Given the description of an element on the screen output the (x, y) to click on. 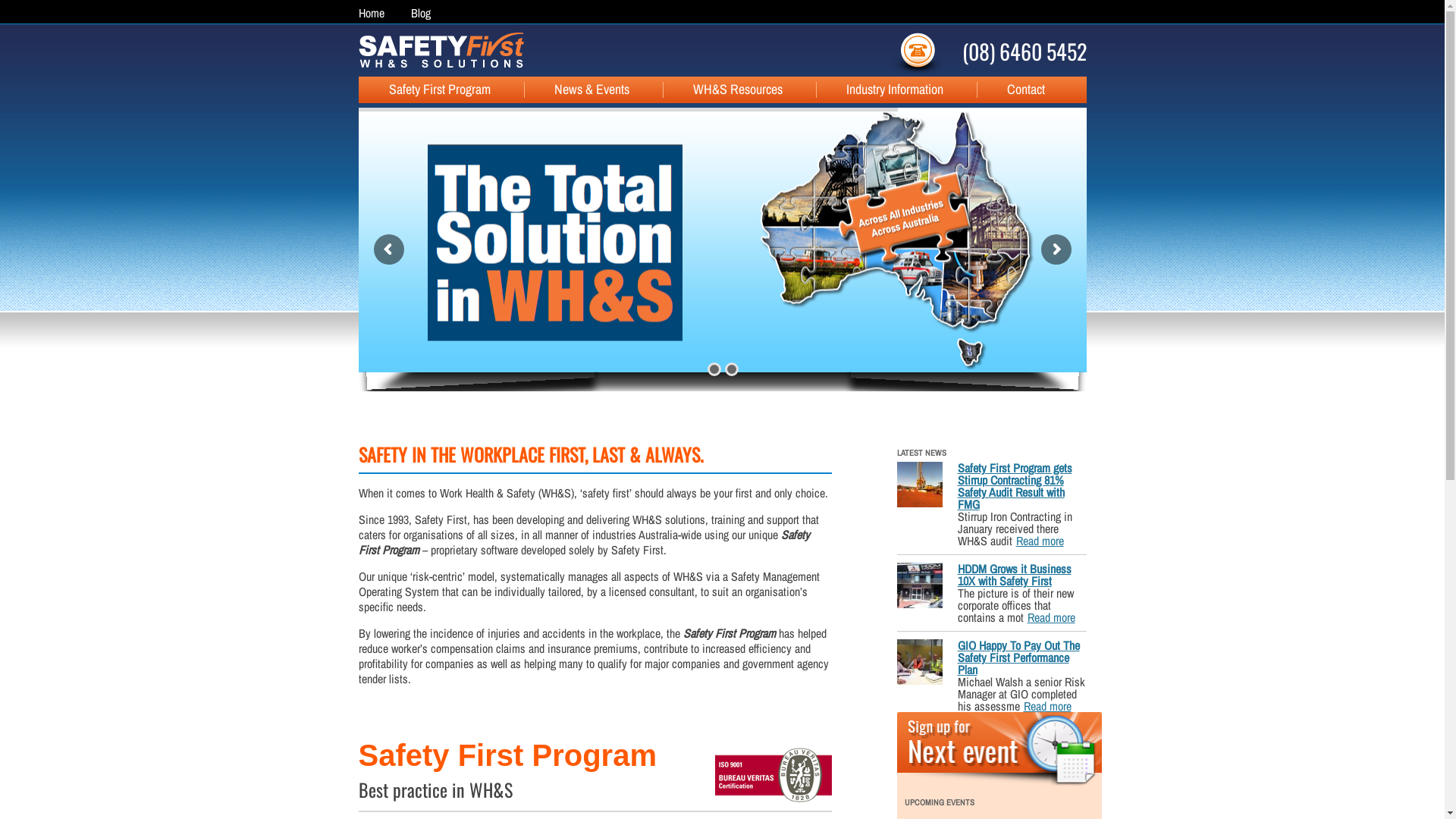
Safety First Program Element type: text (423, 89)
Blog Element type: text (420, 12)
HDDM Grows it Business 10X with Safety First Element type: hover (918, 585)
Skip to content Element type: text (755, 82)
GIO Happy To Pay Out The Safety First Performance Plan Element type: text (1018, 657)
Read more Element type: text (1047, 705)
News & Events Element type: text (575, 89)
Read more Element type: text (1050, 616)
Industry Information Element type: text (879, 89)
Home Element type: text (370, 12)
Read more Element type: text (1039, 540)
WH&S Resources Element type: text (722, 89)
HDDM Grows it Business 10X with Safety First Element type: text (1013, 574)
Contact Element type: text (1010, 89)
GIO Happy To Pay Out The Safety First Performance Plan Element type: hover (918, 662)
